Given the description of an element on the screen output the (x, y) to click on. 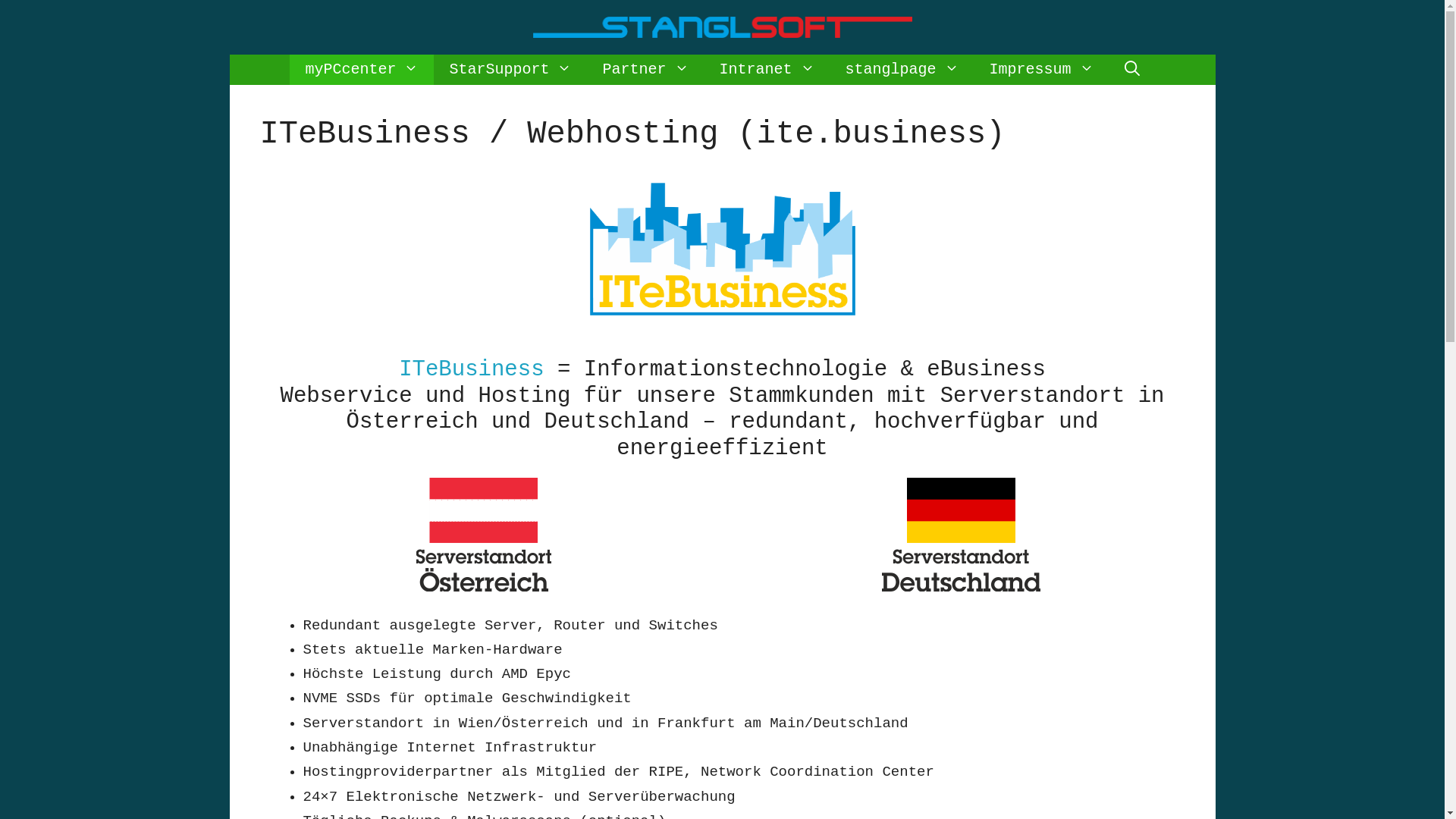
ITeBusiness - das Zuhause Ihrer Domain und Website Element type: hover (722, 248)
stanglpage Element type: text (902, 69)
ITeBusiness Element type: text (470, 369)
Partner Element type: text (644, 69)
Intranet Element type: text (766, 69)
StarSupport Element type: text (509, 69)
Impressum Element type: text (1041, 69)
myPCcenter Element type: text (361, 69)
Serverstandort Deutschland Element type: hover (960, 534)
